Given the description of an element on the screen output the (x, y) to click on. 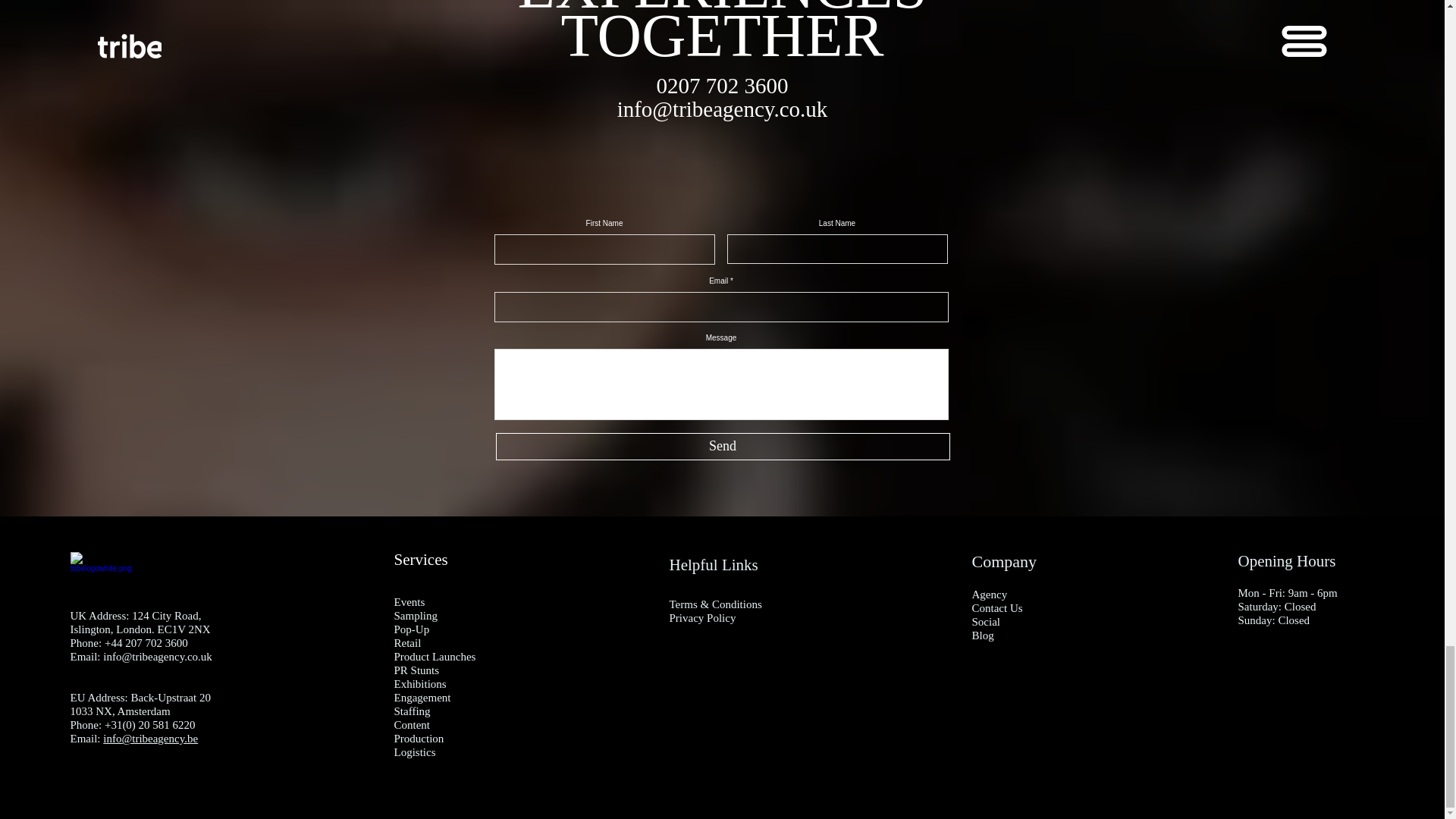
Product Launches (435, 656)
Logistics (414, 752)
Retail (408, 643)
Privacy Policy (701, 617)
Social (986, 621)
Contact Us (997, 607)
PR Stunts (416, 670)
Content (412, 725)
Blog (983, 635)
Exhibitions (420, 684)
Events (409, 602)
Send (723, 446)
Agency (989, 594)
Production (419, 738)
Engagement (422, 697)
